Given the description of an element on the screen output the (x, y) to click on. 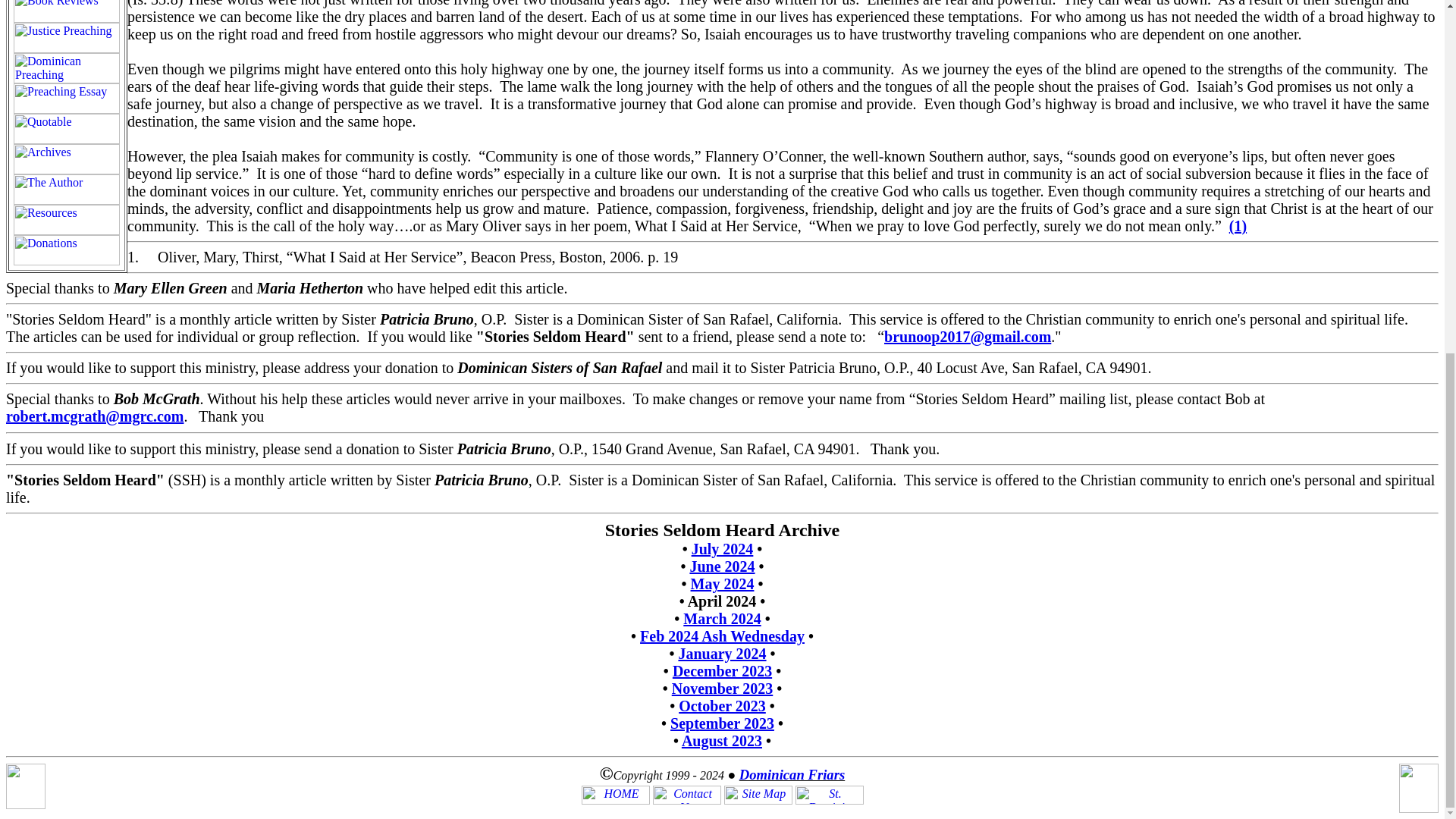
July 2024 (722, 548)
Stories Seldom Heard Archive (722, 529)
1. (133, 256)
